Given the description of an element on the screen output the (x, y) to click on. 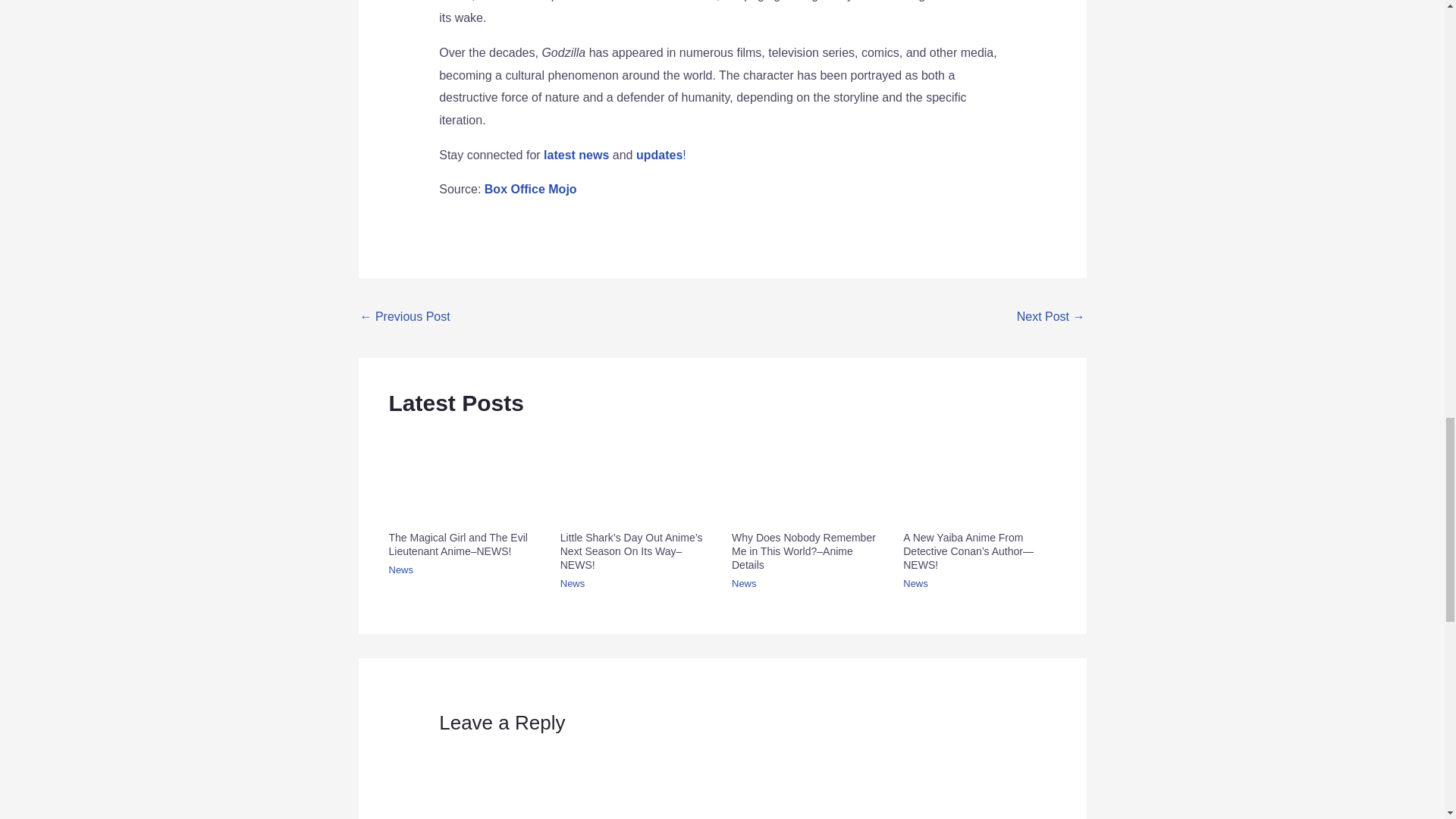
updates! (660, 154)
Box Office Mojo (530, 188)
Why Does Nobody Remember Me in This World?--Anime Details 4 (807, 475)
Comment Form (722, 779)
latest news (575, 154)
UNDER NINJA Manga Announces Live-Action Film Adaptation (404, 317)
